Given the description of an element on the screen output the (x, y) to click on. 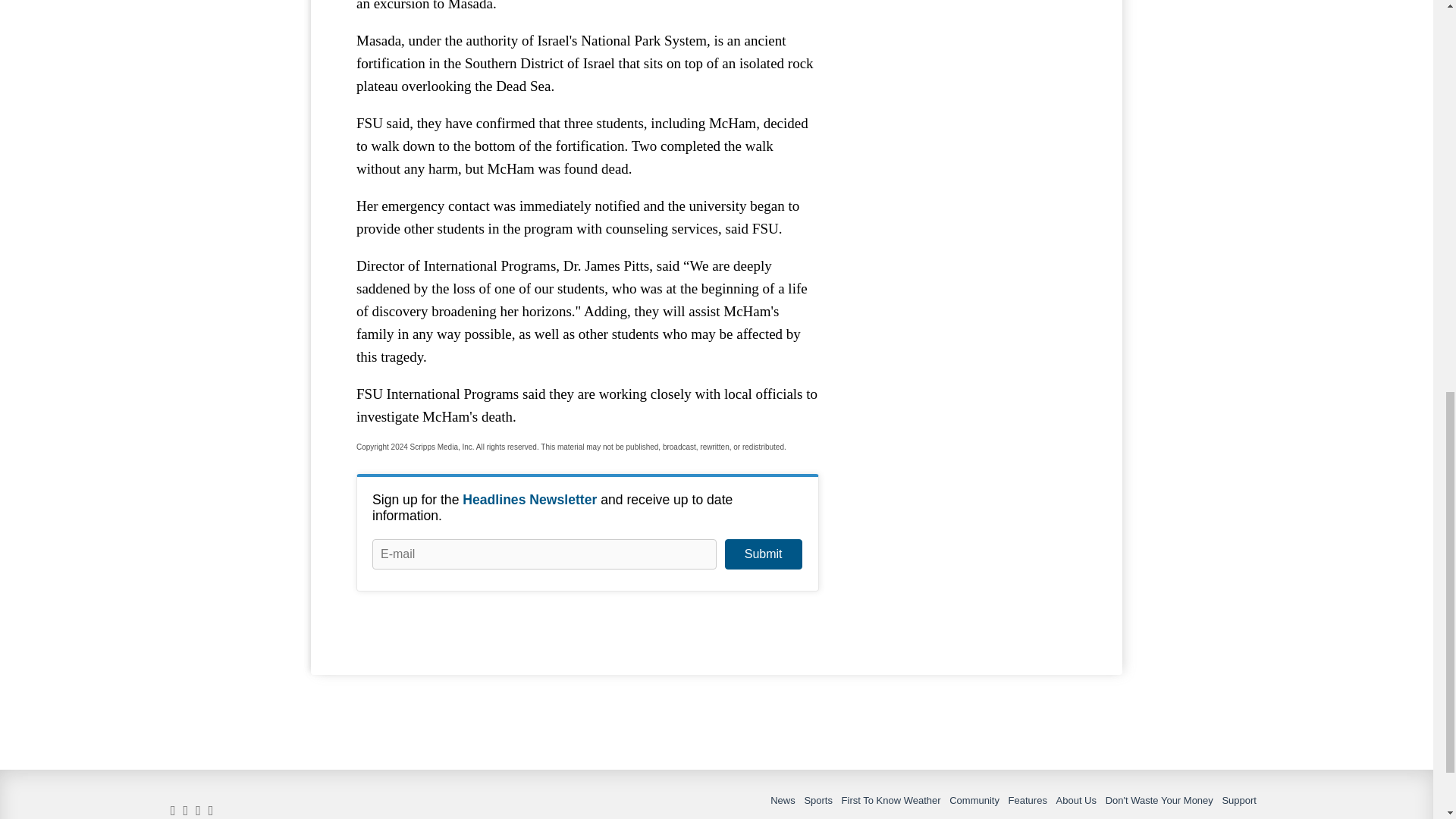
Submit (763, 553)
